Given the description of an element on the screen output the (x, y) to click on. 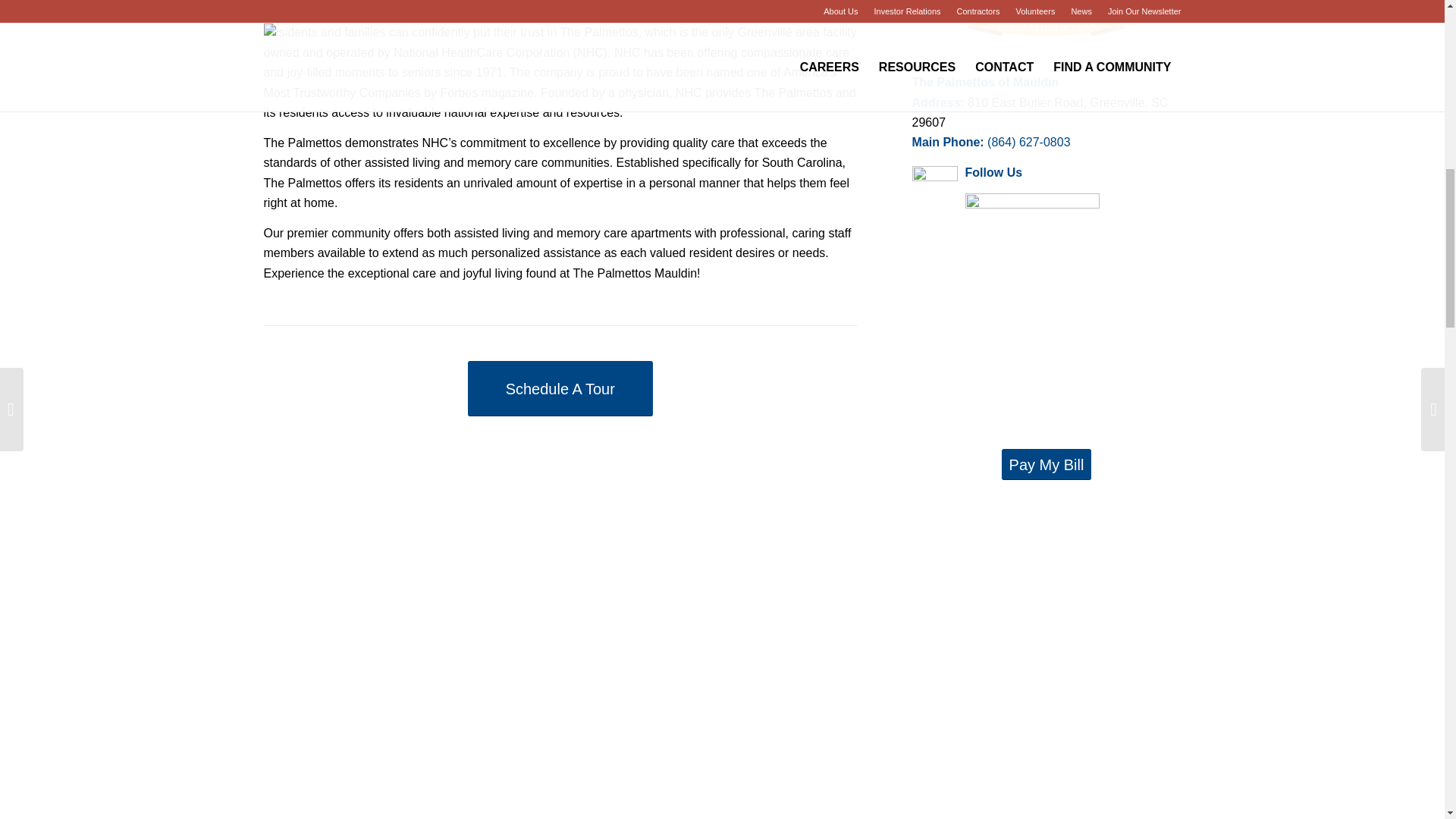
Follow Us (994, 172)
The Palmettos 10 YR Anniv Logo Concept - GOLD (1046, 31)
Schedule A Tour (559, 388)
Pay My Bill (1046, 463)
